Given the description of an element on the screen output the (x, y) to click on. 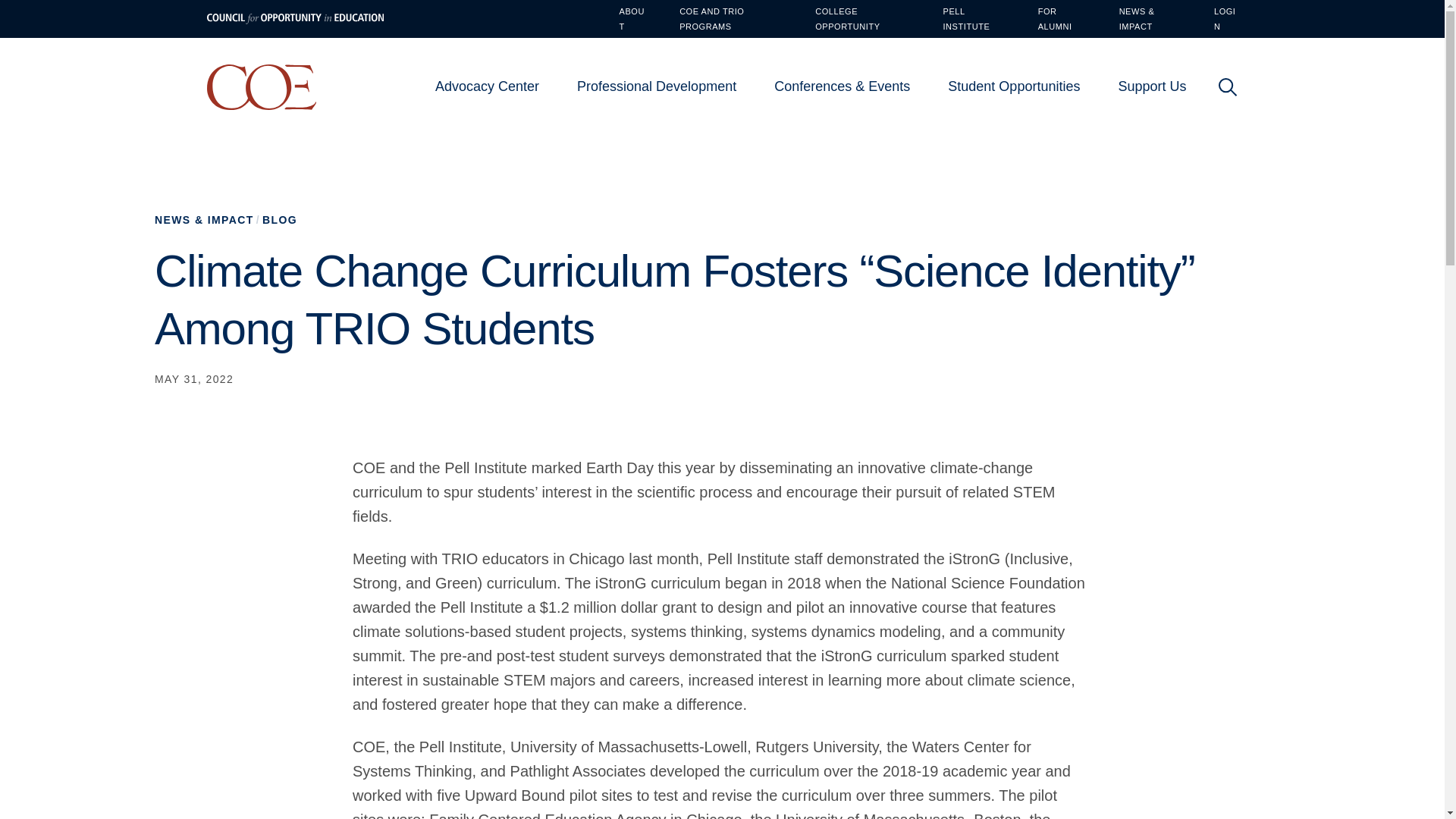
Council for Opportunity in Education (497, 137)
Advocacy Center (486, 86)
COE AND TRIO PROGRAMS (729, 19)
PELL INSTITUTE (973, 19)
Professional Development (656, 86)
FOR ALUMNI (1061, 19)
Council for Opportunity in Education (260, 86)
COLLEGE OPPORTUNITY (861, 19)
